Given the description of an element on the screen output the (x, y) to click on. 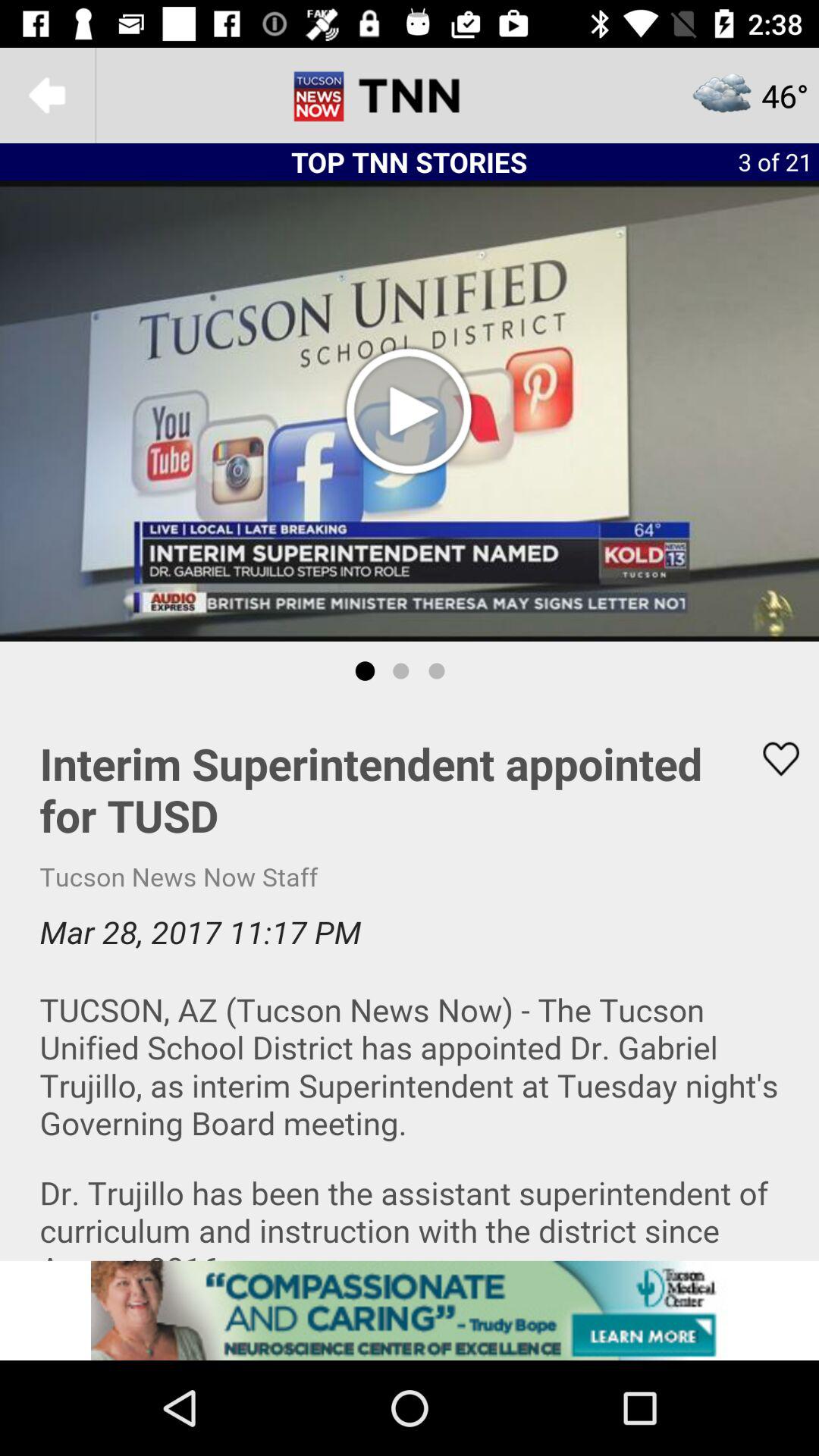
go back (47, 95)
